Given the description of an element on the screen output the (x, y) to click on. 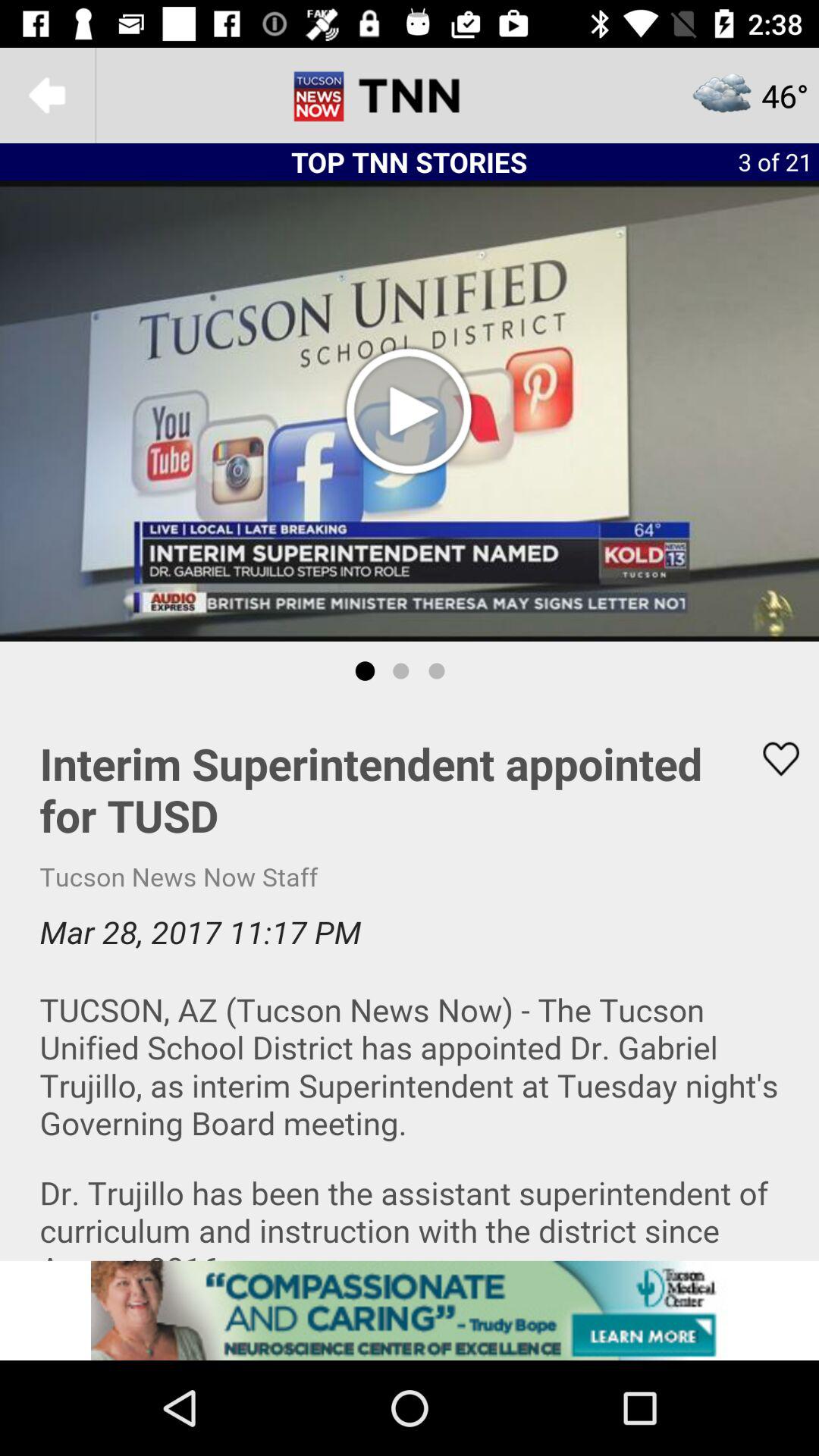
go back (47, 95)
